Given the description of an element on the screen output the (x, y) to click on. 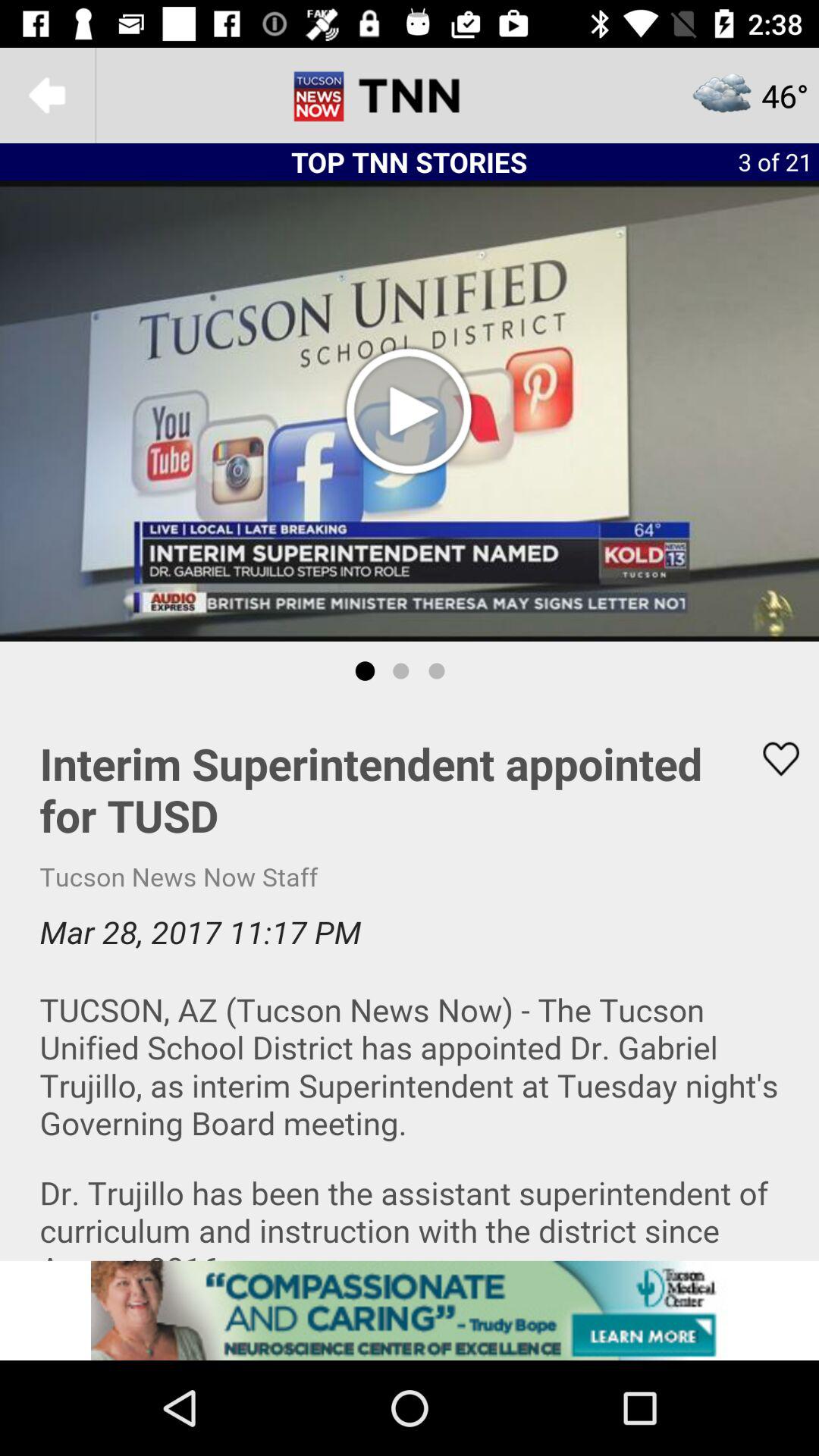
go back (47, 95)
